Given the description of an element on the screen output the (x, y) to click on. 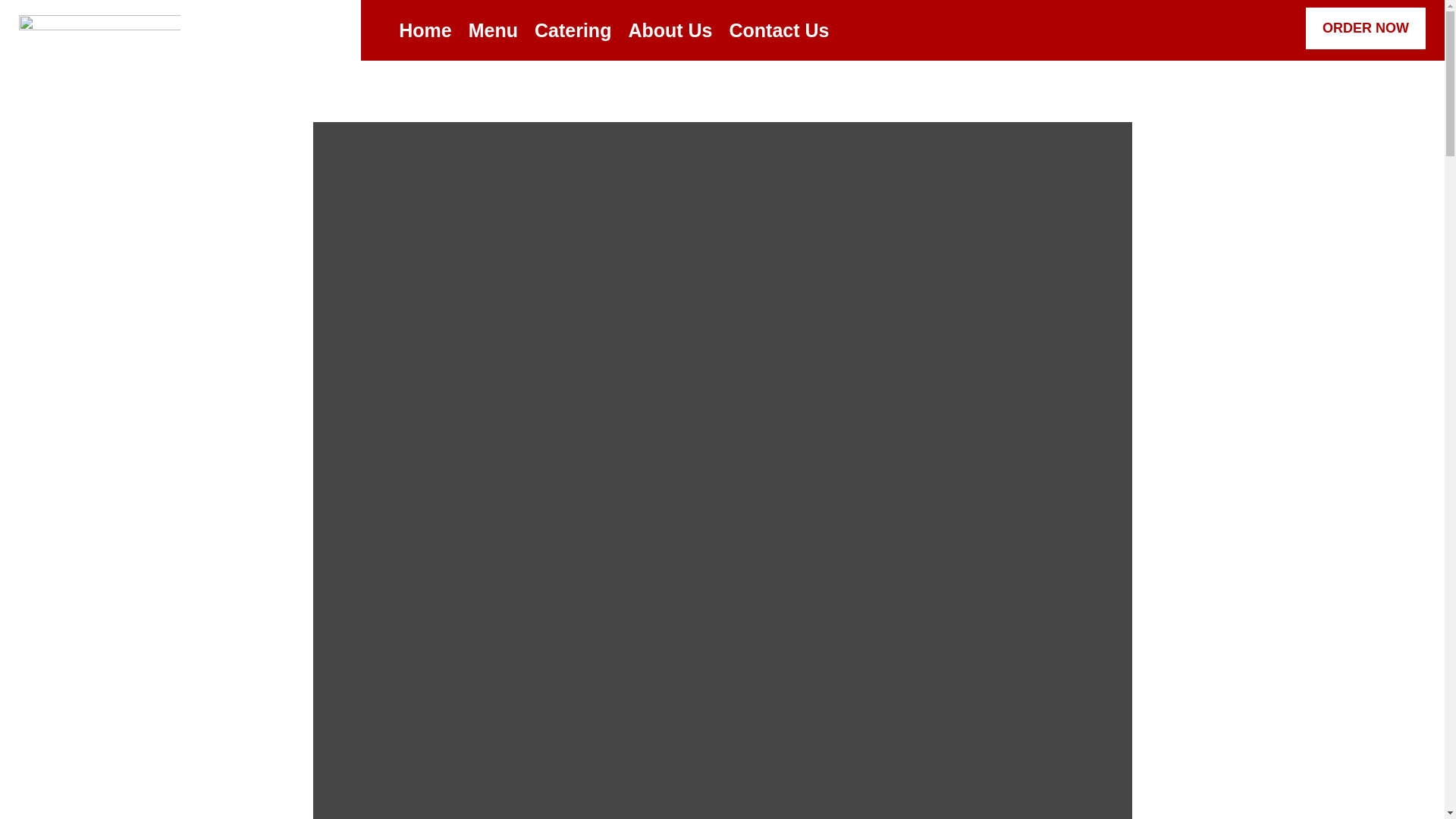
Home (424, 33)
ORDER NOW (1365, 28)
About Us (669, 33)
Catering (572, 33)
Contact Us (779, 33)
Menu (493, 33)
website-logo (99, 32)
